Given the description of an element on the screen output the (x, y) to click on. 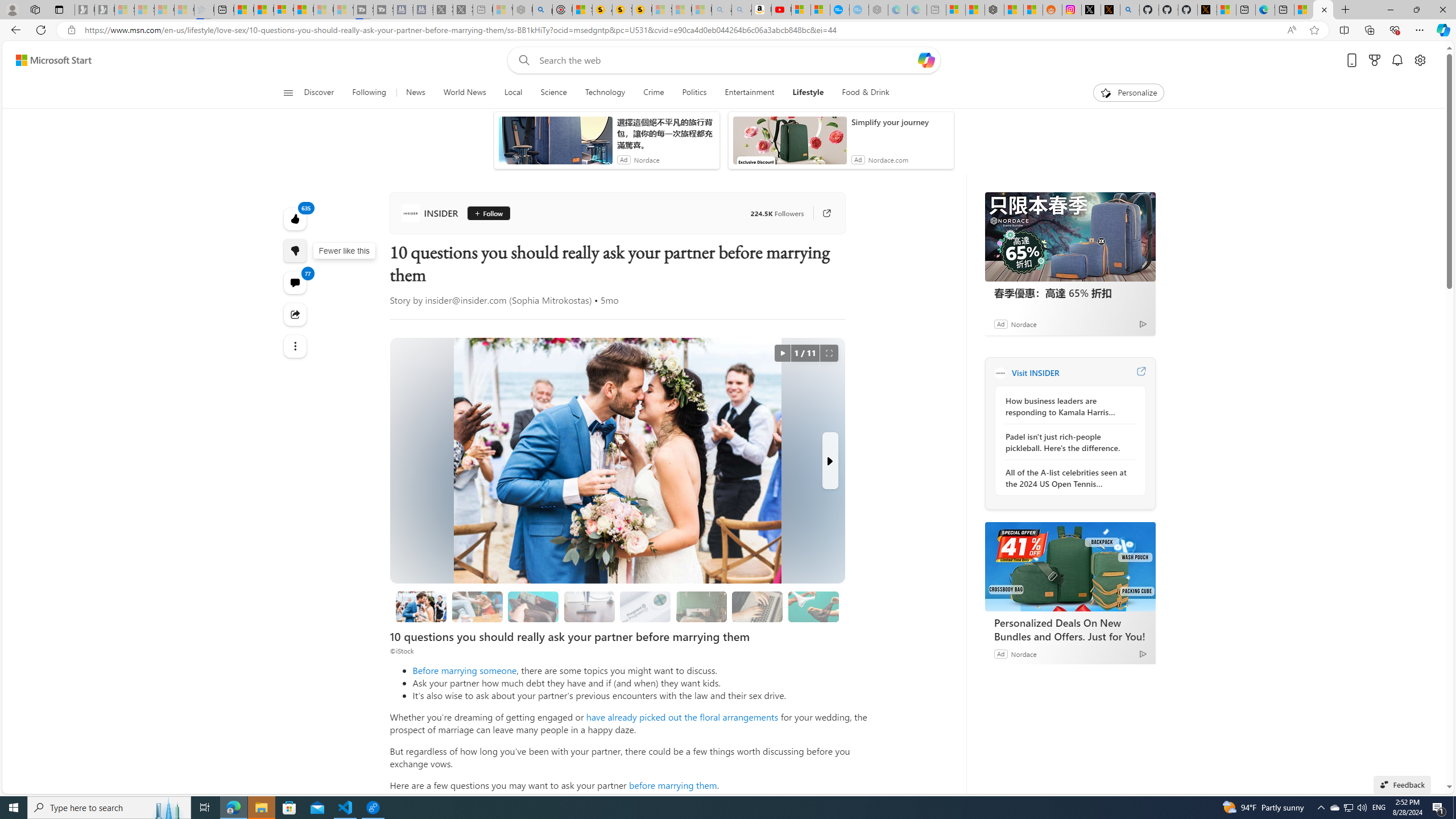
New Tab (1346, 9)
New tab - Sleeping (935, 9)
Share this story (295, 314)
Do you want kids? If so, when? (644, 606)
Food & Drink (865, 92)
Nordace - Duffels (994, 9)
Microsoft rewards (1374, 60)
See more (295, 345)
Michelle Starr, Senior Journalist at ScienceAlert (641, 9)
View site information (70, 29)
INSIDER (431, 212)
